Given the description of an element on the screen output the (x, y) to click on. 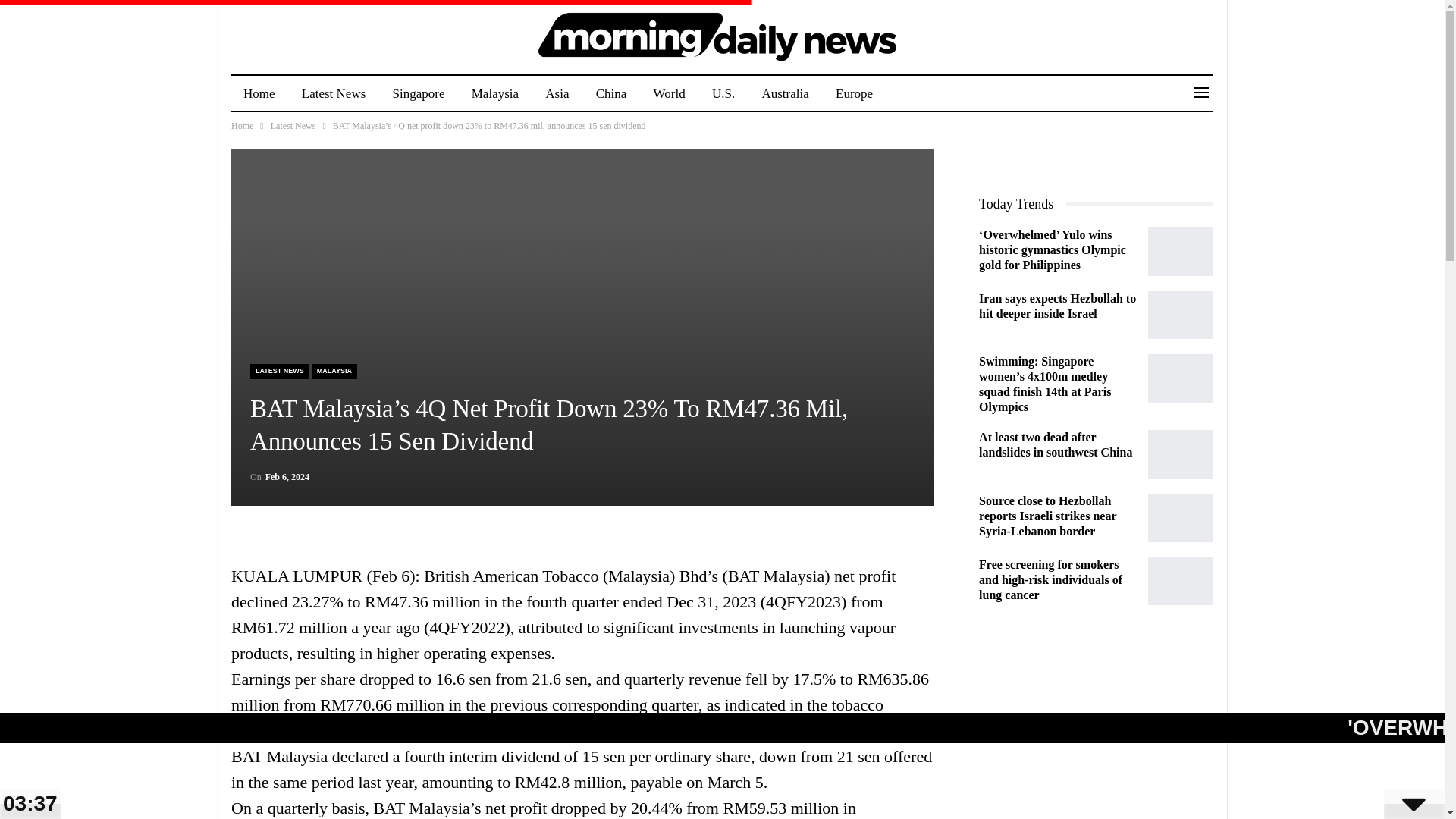
Europe (854, 94)
LATEST NEWS (279, 370)
MALAYSIA (333, 370)
Singapore (418, 94)
Australia (785, 94)
Home (258, 94)
U.S. (723, 94)
Latest News (333, 94)
Malaysia (495, 94)
World (669, 94)
Home (242, 125)
China (611, 94)
Latest News (292, 125)
Asia (556, 94)
